Given the description of an element on the screen output the (x, y) to click on. 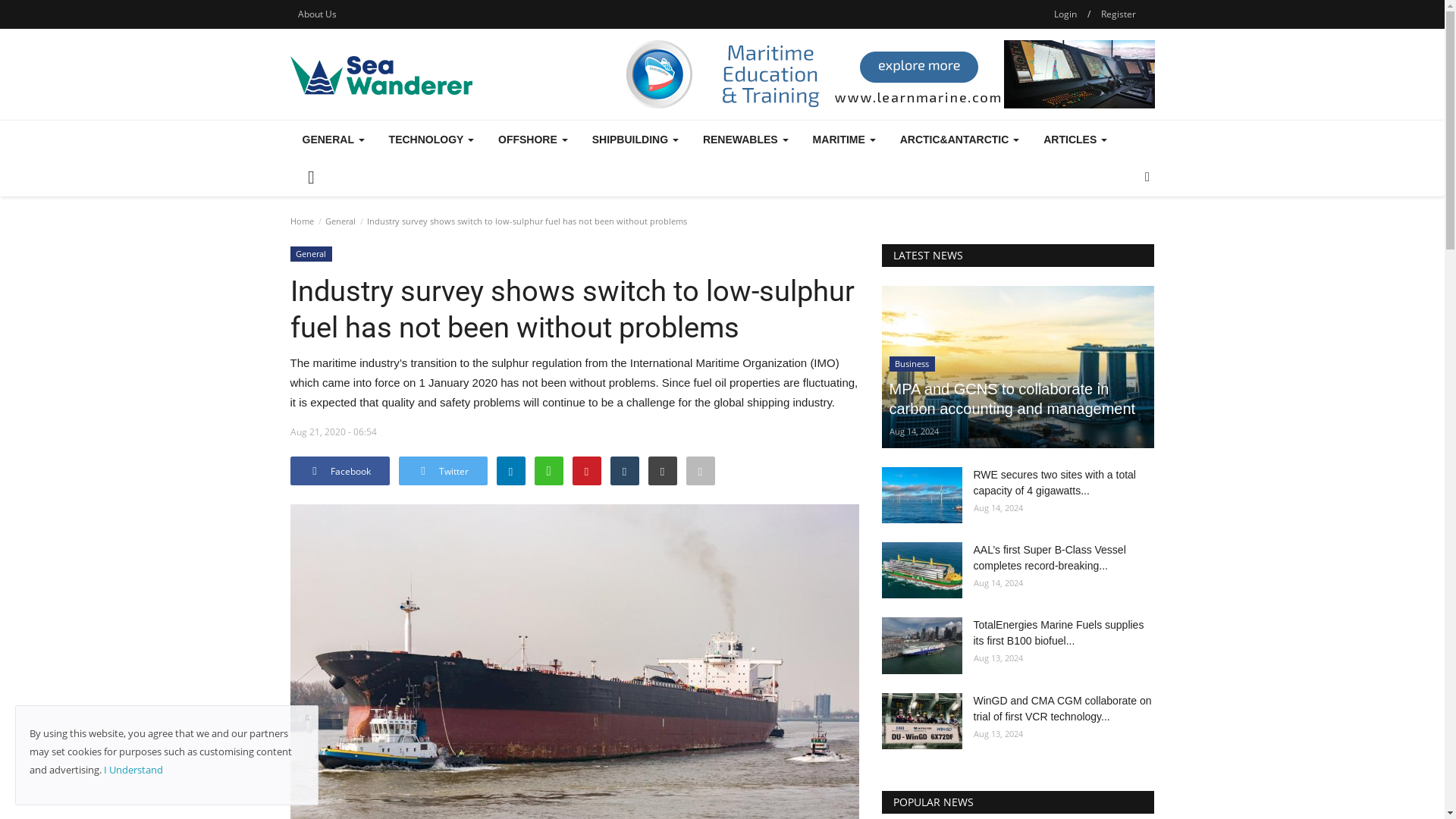
Register (1117, 14)
GENERAL (332, 139)
About Us (316, 14)
Login (1065, 14)
